Given the description of an element on the screen output the (x, y) to click on. 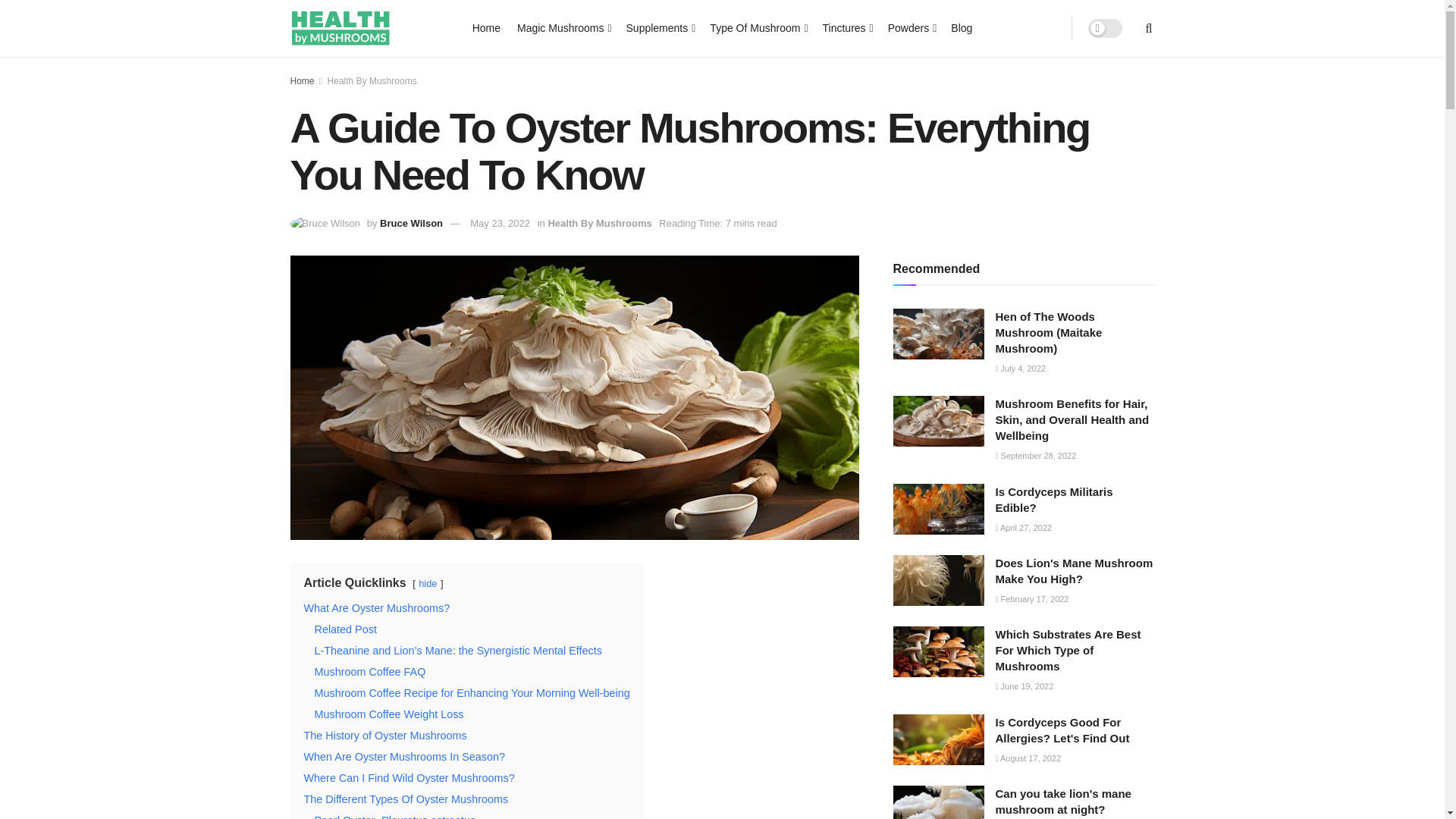
Home (485, 27)
Supplements (660, 27)
Magic Mushrooms (563, 27)
Type Of Mushroom (757, 27)
